Given the description of an element on the screen output the (x, y) to click on. 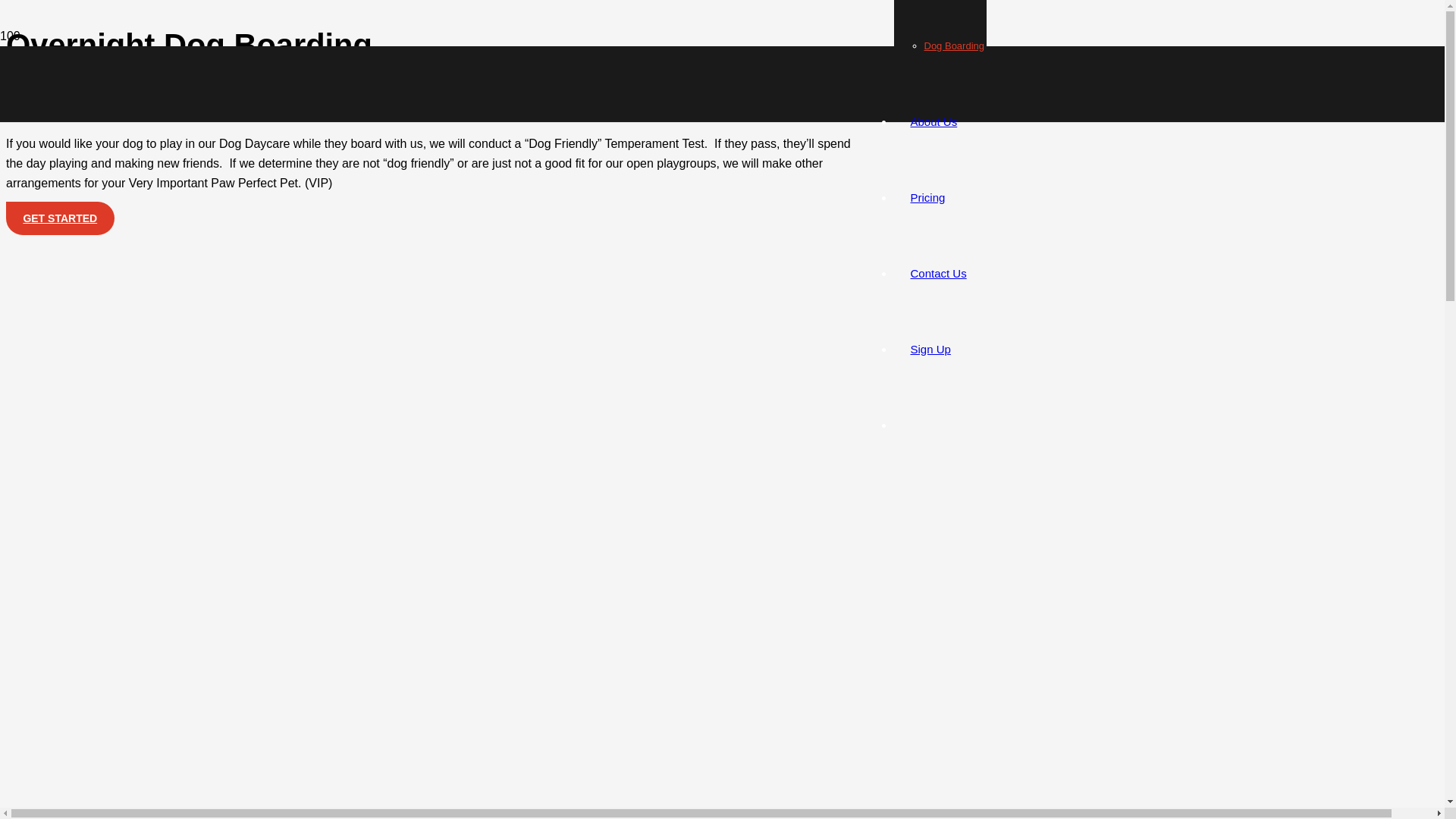
About Us (933, 121)
GET STARTED (60, 218)
Dog Boarding (953, 45)
Contact Us (937, 273)
Sign Up (929, 349)
Pricing (926, 196)
